Given the description of an element on the screen output the (x, y) to click on. 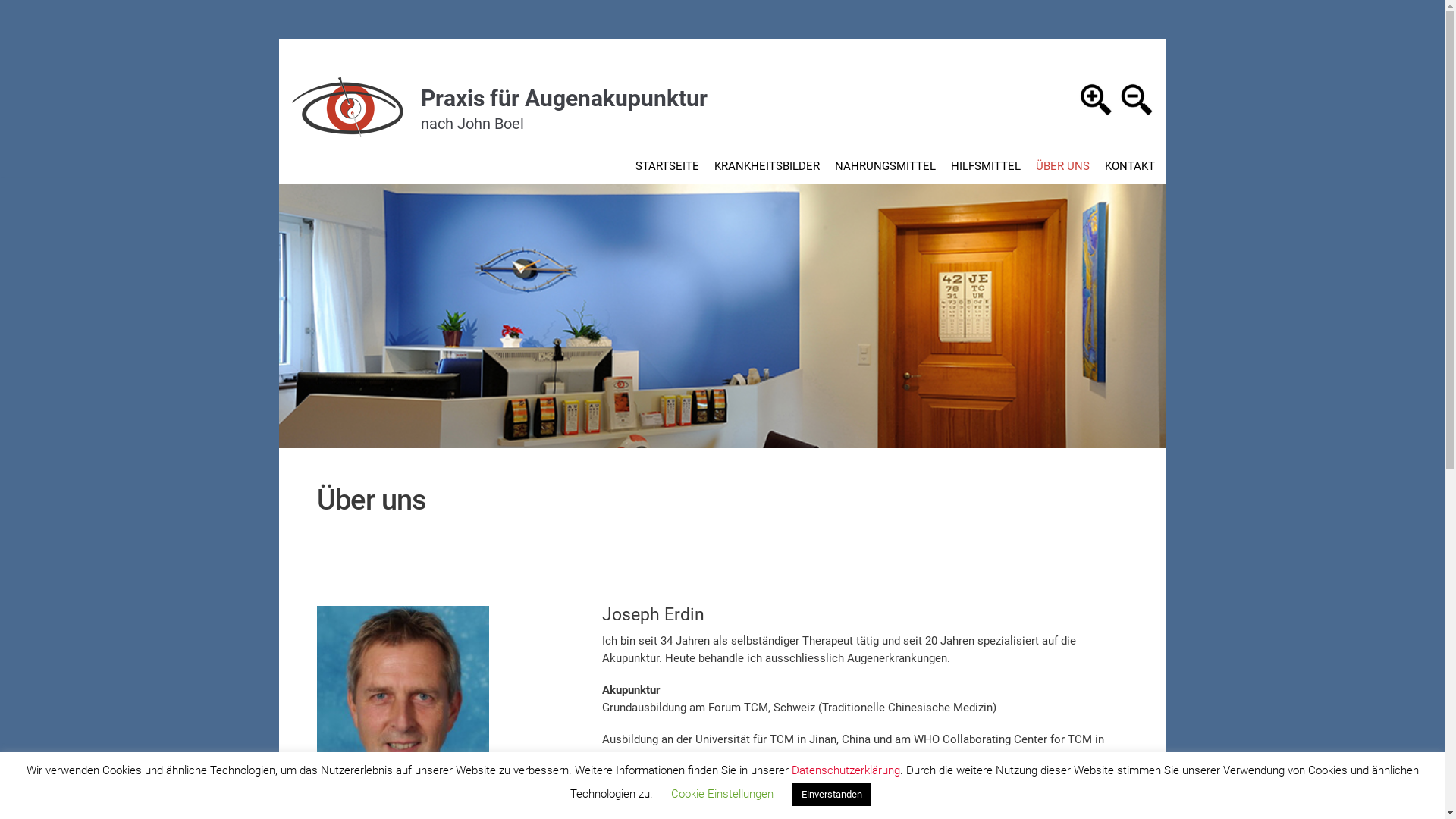
KRANKHEITSBILDER Element type: text (766, 165)
Skip to content Element type: text (15, 31)
Cookie Einstellungen Element type: text (721, 793)
NAHRUNGSMITTEL Element type: text (884, 165)
HILFSMITTEL Element type: text (985, 165)
KONTAKT Element type: text (1129, 165)
STARTSEITE Element type: text (667, 165)
Einverstanden Element type: text (830, 794)
